Given the description of an element on the screen output the (x, y) to click on. 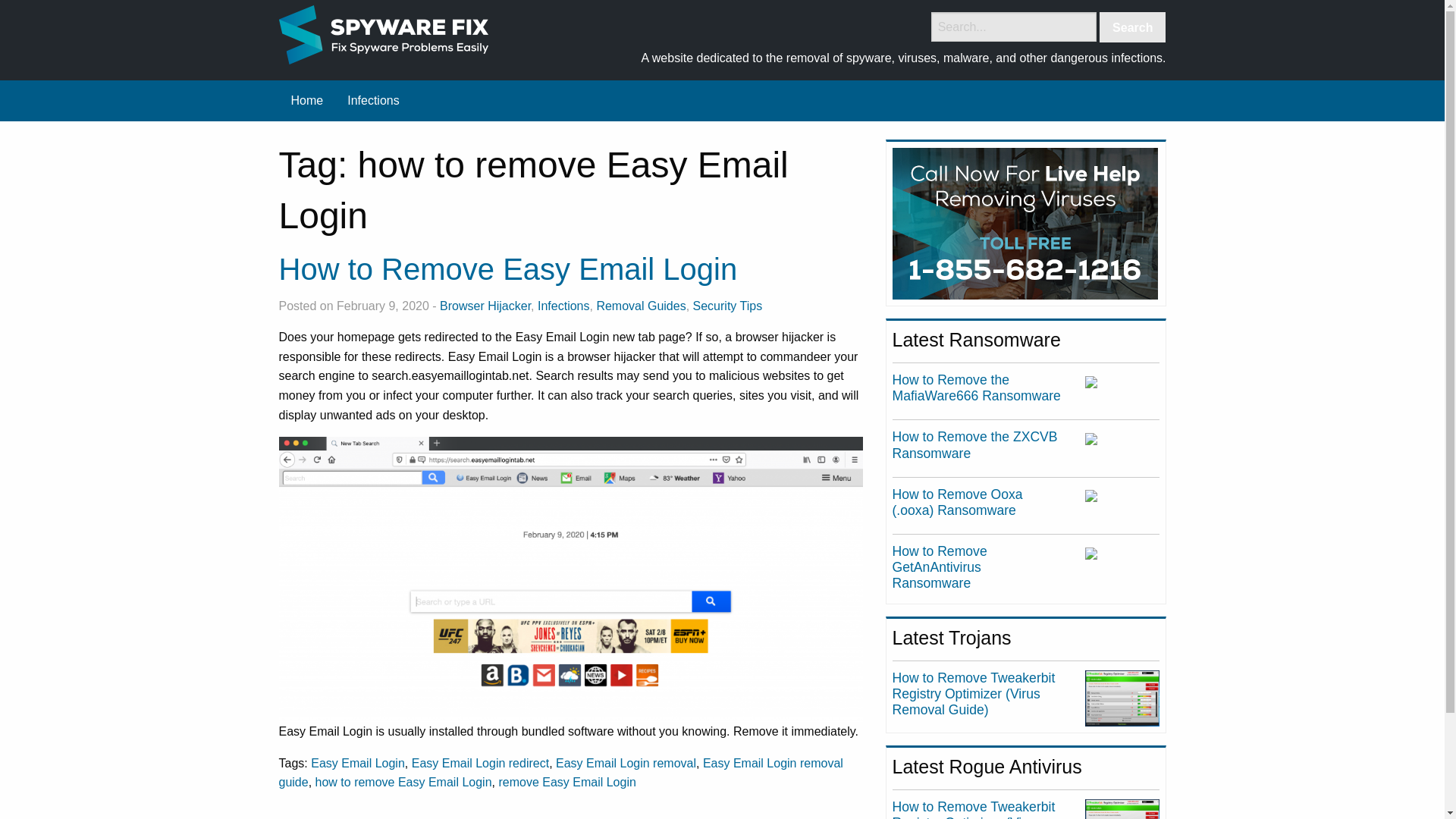
How to Remove Easy Email Login (508, 268)
How to Remove the MafiaWare666 Ransomware (976, 387)
Security Tips (727, 305)
Removal Guides (640, 305)
How to Remove Easy Email Login (508, 268)
Infections (372, 100)
how to remove Easy Email Login (403, 781)
Search (1132, 27)
Home (307, 100)
Easy Email Login redirect (480, 762)
